Given the description of an element on the screen output the (x, y) to click on. 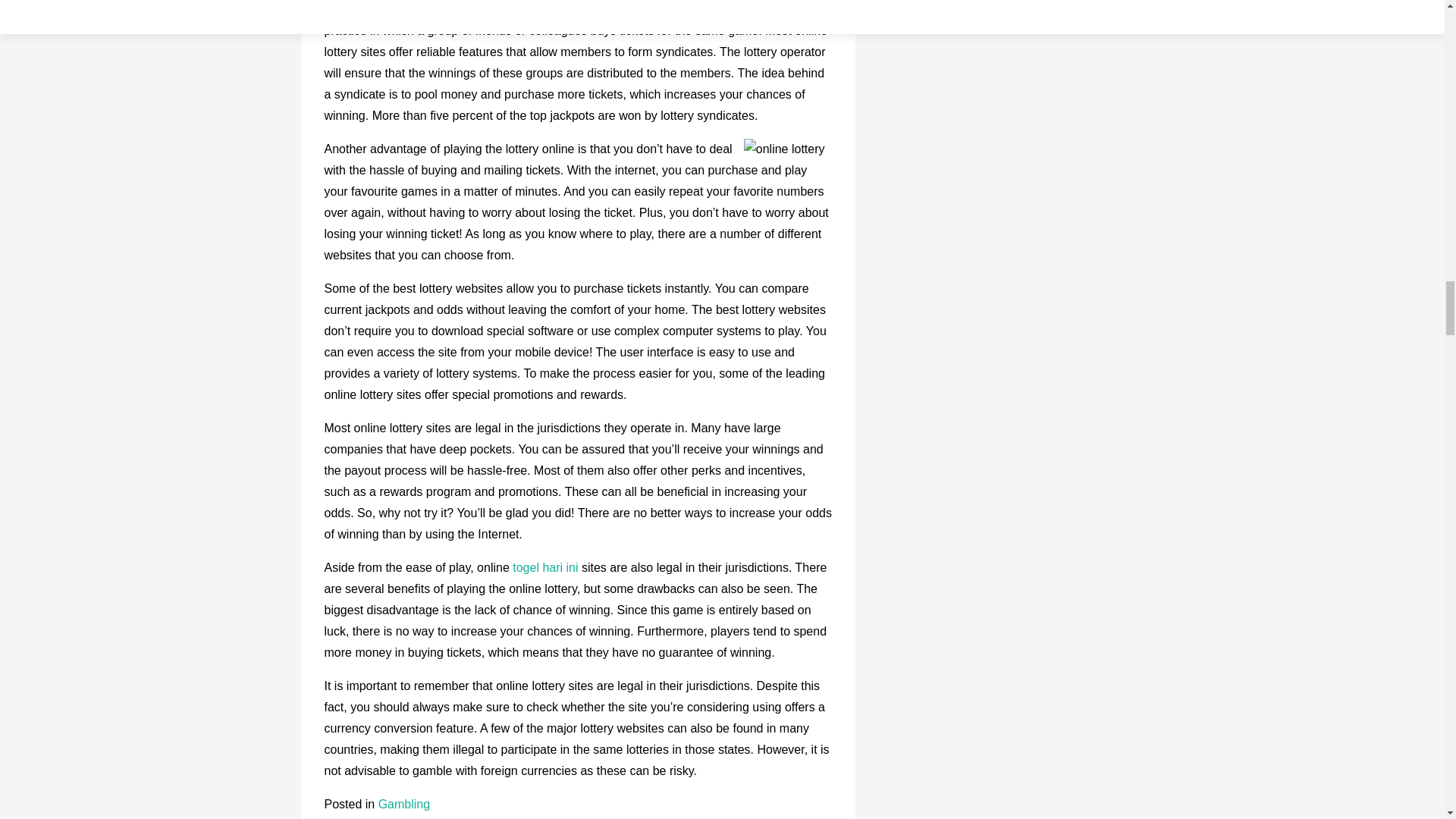
togel hari ini (546, 567)
Gambling (403, 803)
